Given the description of an element on the screen output the (x, y) to click on. 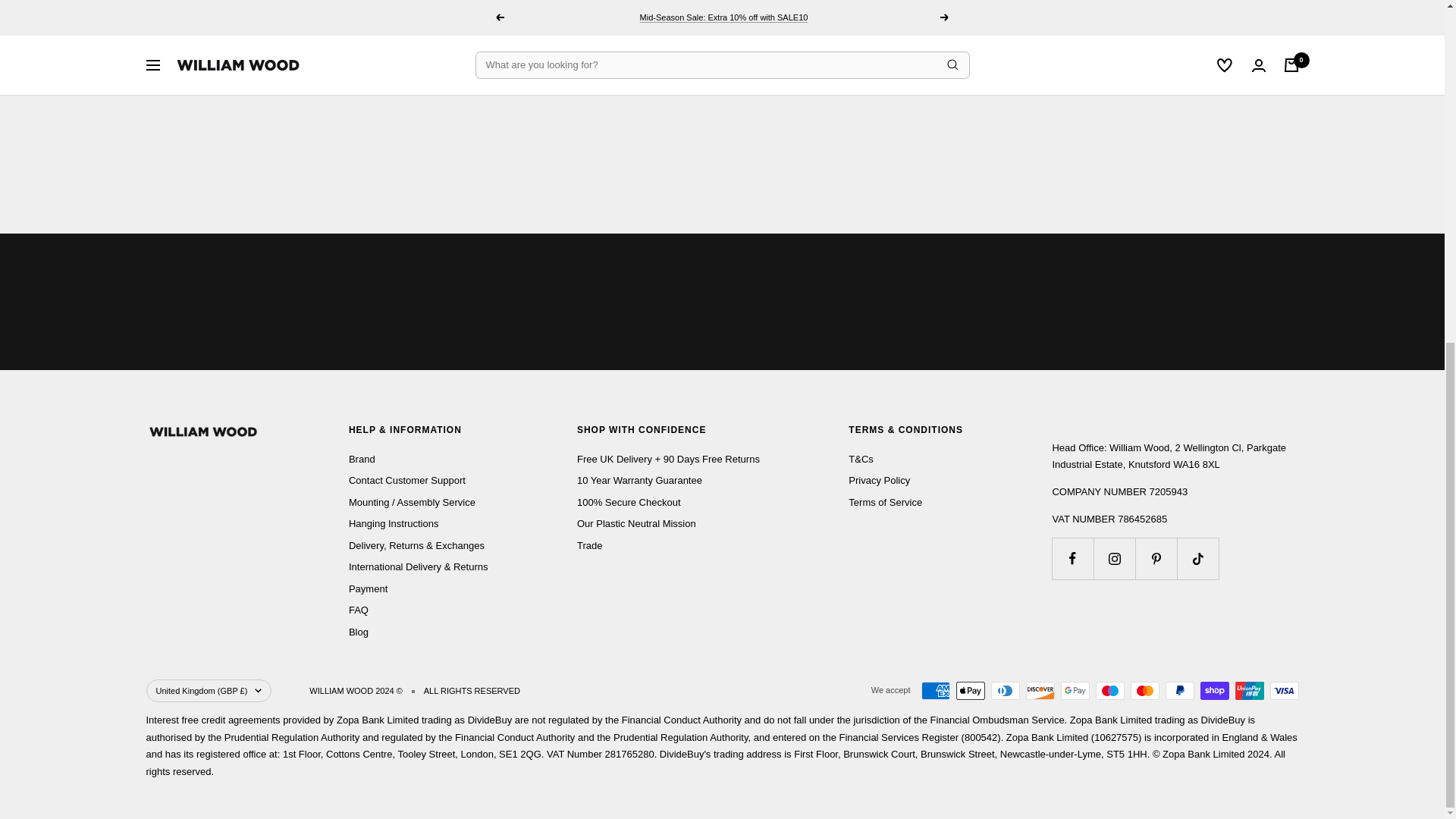
Trade (589, 546)
Contact Customer Support (407, 480)
Brand (362, 459)
Hanging Instructions (394, 524)
Privacy Policy (879, 480)
FAQ (358, 610)
Blog (358, 632)
10 Year Warranty Guarantee (638, 480)
Our Plastic Neutral Mission (635, 524)
Payment (368, 589)
